Given the description of an element on the screen output the (x, y) to click on. 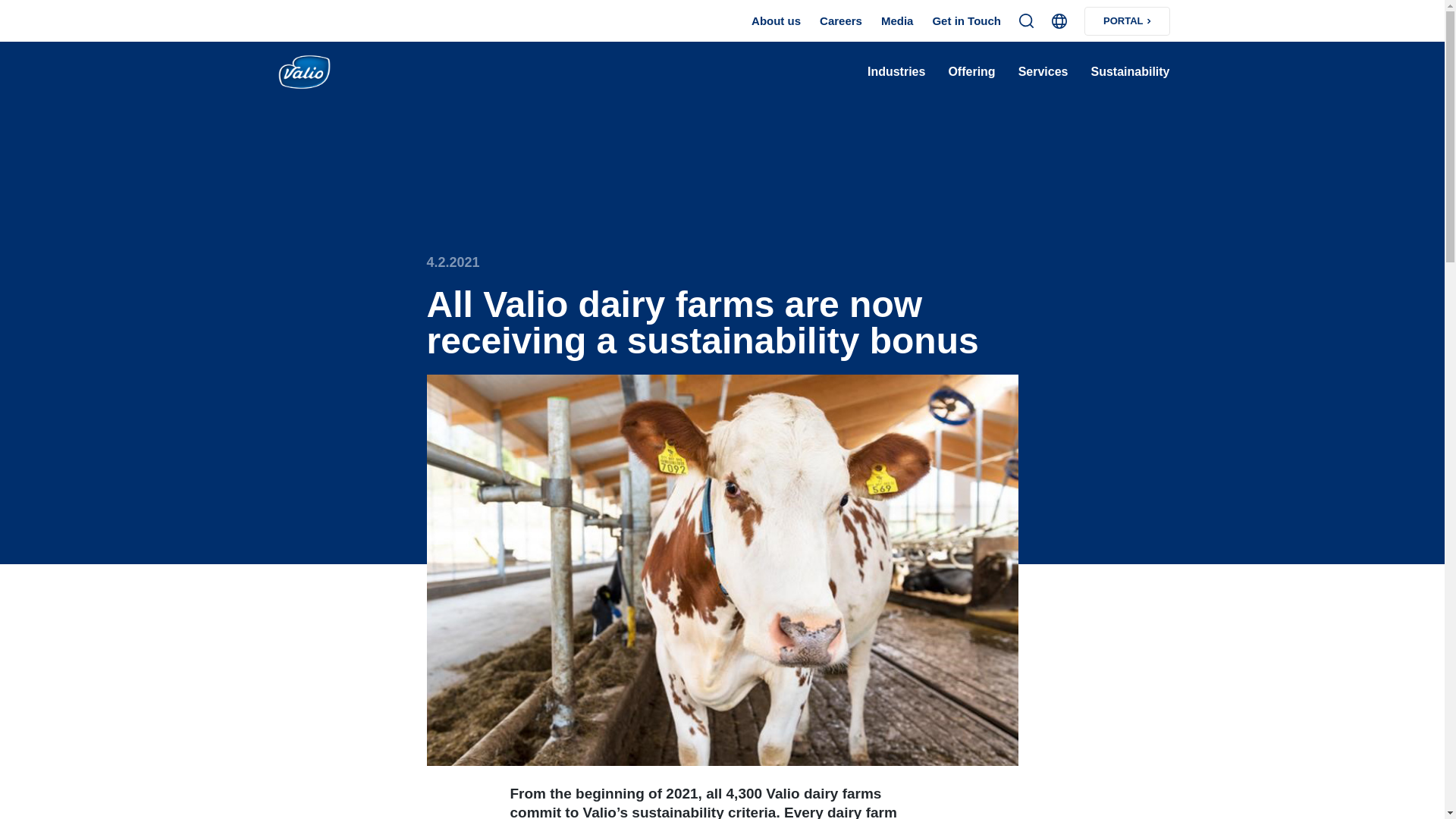
About us (775, 20)
PORTAL (1126, 20)
Industries (895, 71)
Get in Touch (966, 20)
valio.com (334, 72)
Sustainability (1129, 71)
Careers (840, 20)
Global (1059, 20)
